Given the description of an element on the screen output the (x, y) to click on. 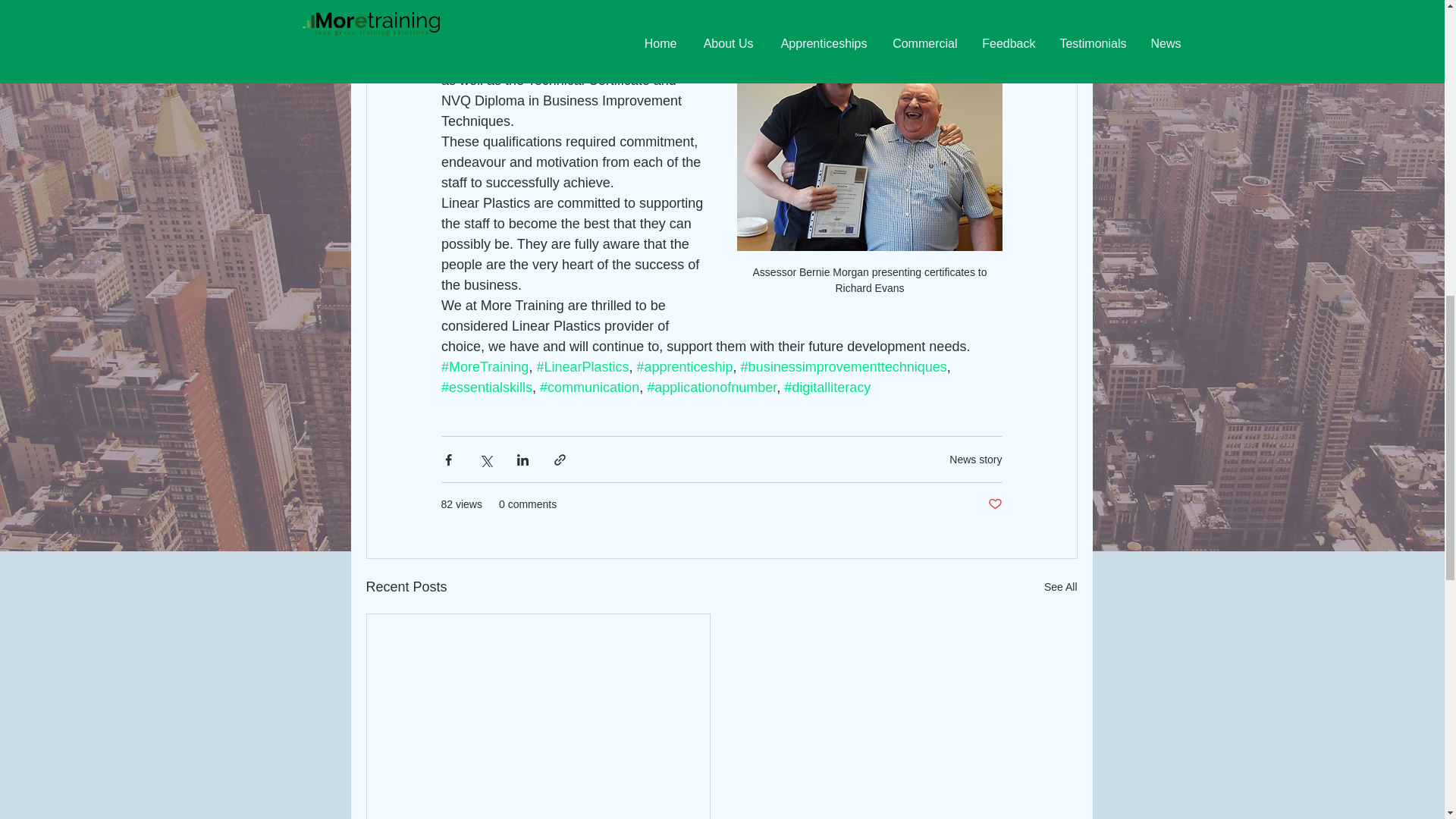
Post not marked as liked (994, 504)
News story (975, 459)
See All (1060, 587)
